Given the description of an element on the screen output the (x, y) to click on. 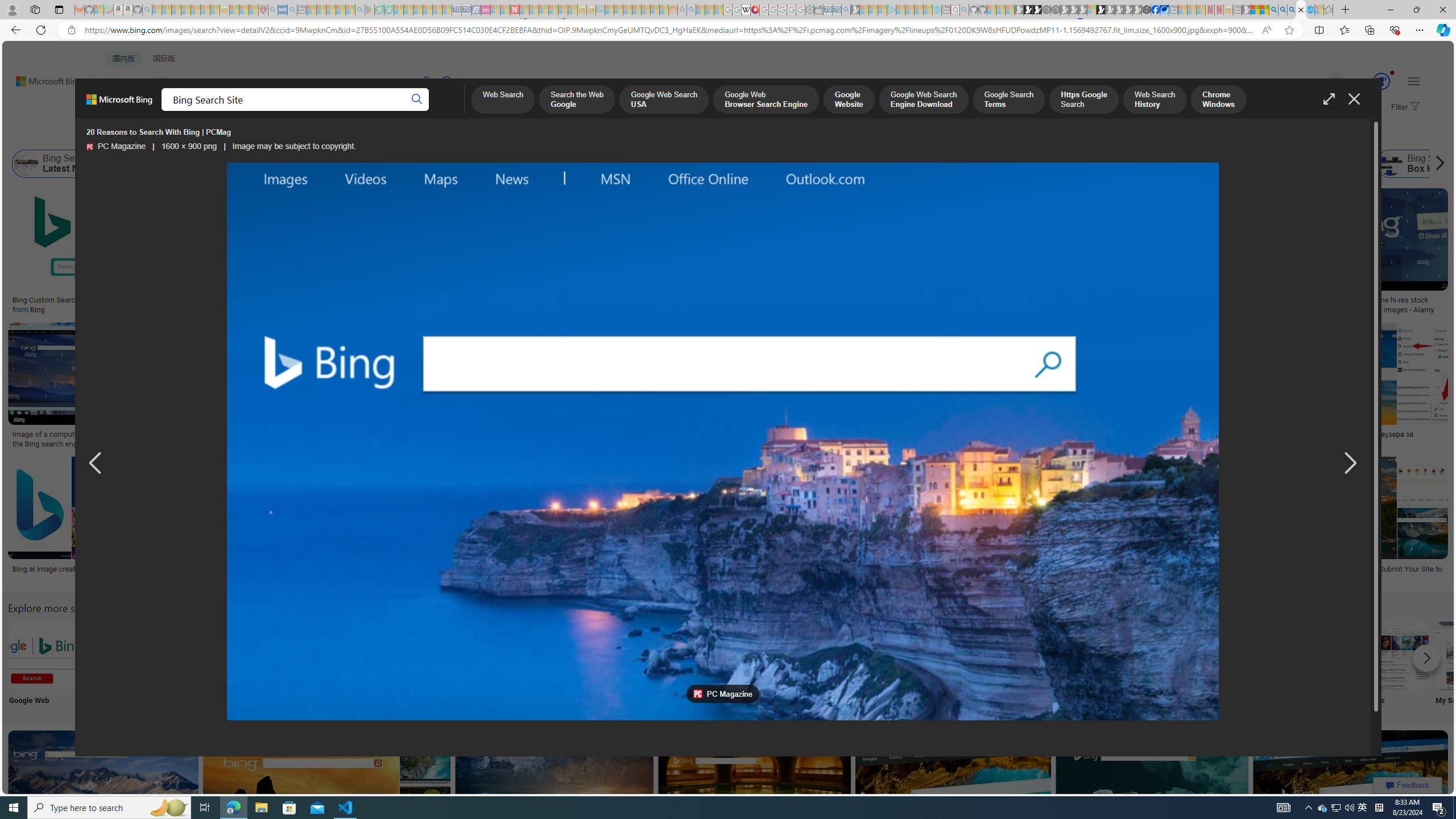
Bing Search App Icon (418, 654)
Internet Explorer Bing Search (192, 654)
Search button (417, 99)
Bing the Search Engine (868, 654)
Bing Home Search Site (1326, 163)
Bing Advanced Search Tricks You Should KnowSave (462, 252)
Bing Clip ART SEARCH (493, 654)
Image Search Bing Engine (198, 434)
